Given the description of an element on the screen output the (x, y) to click on. 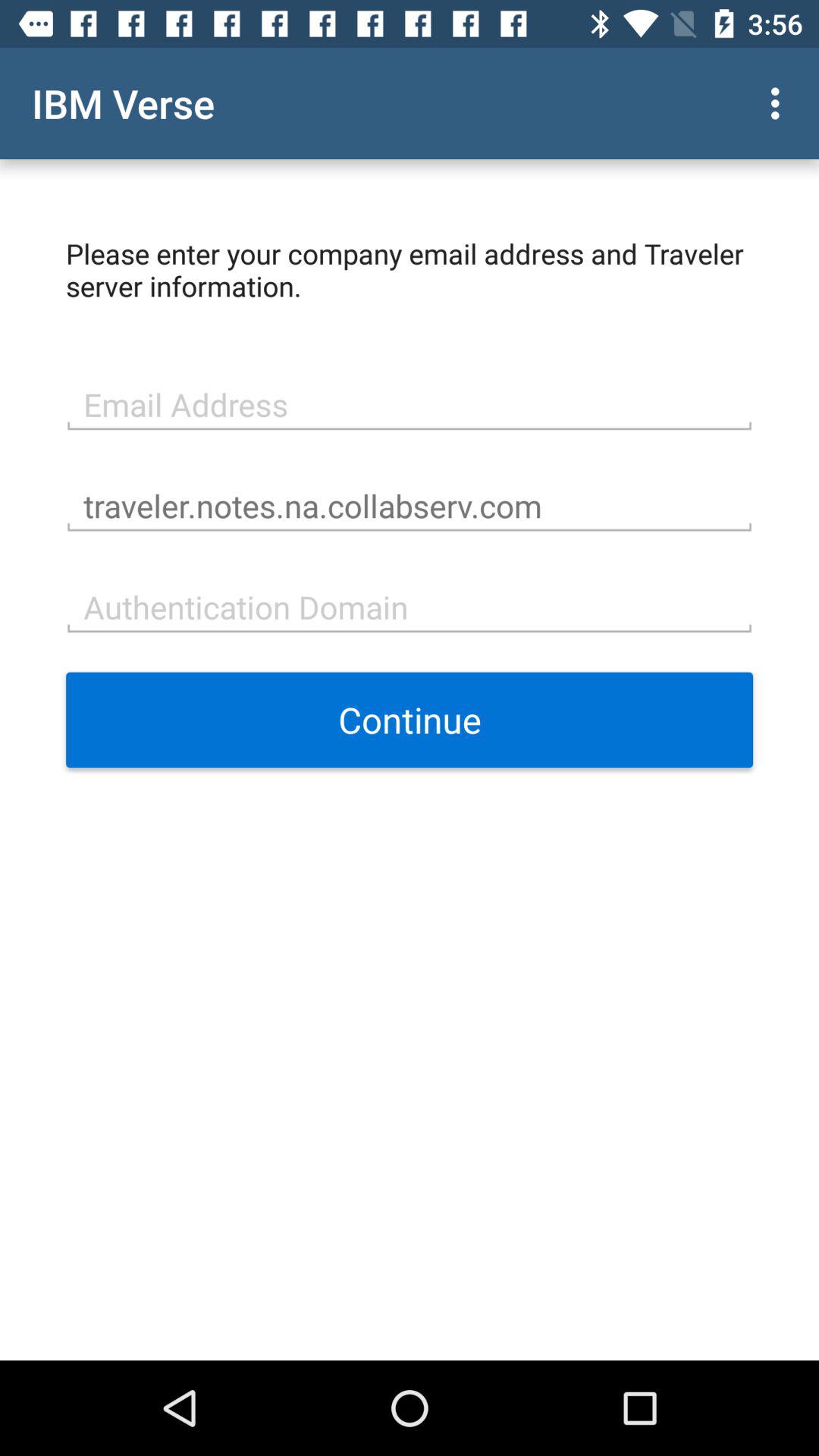
press icon above continue icon (409, 605)
